Given the description of an element on the screen output the (x, y) to click on. 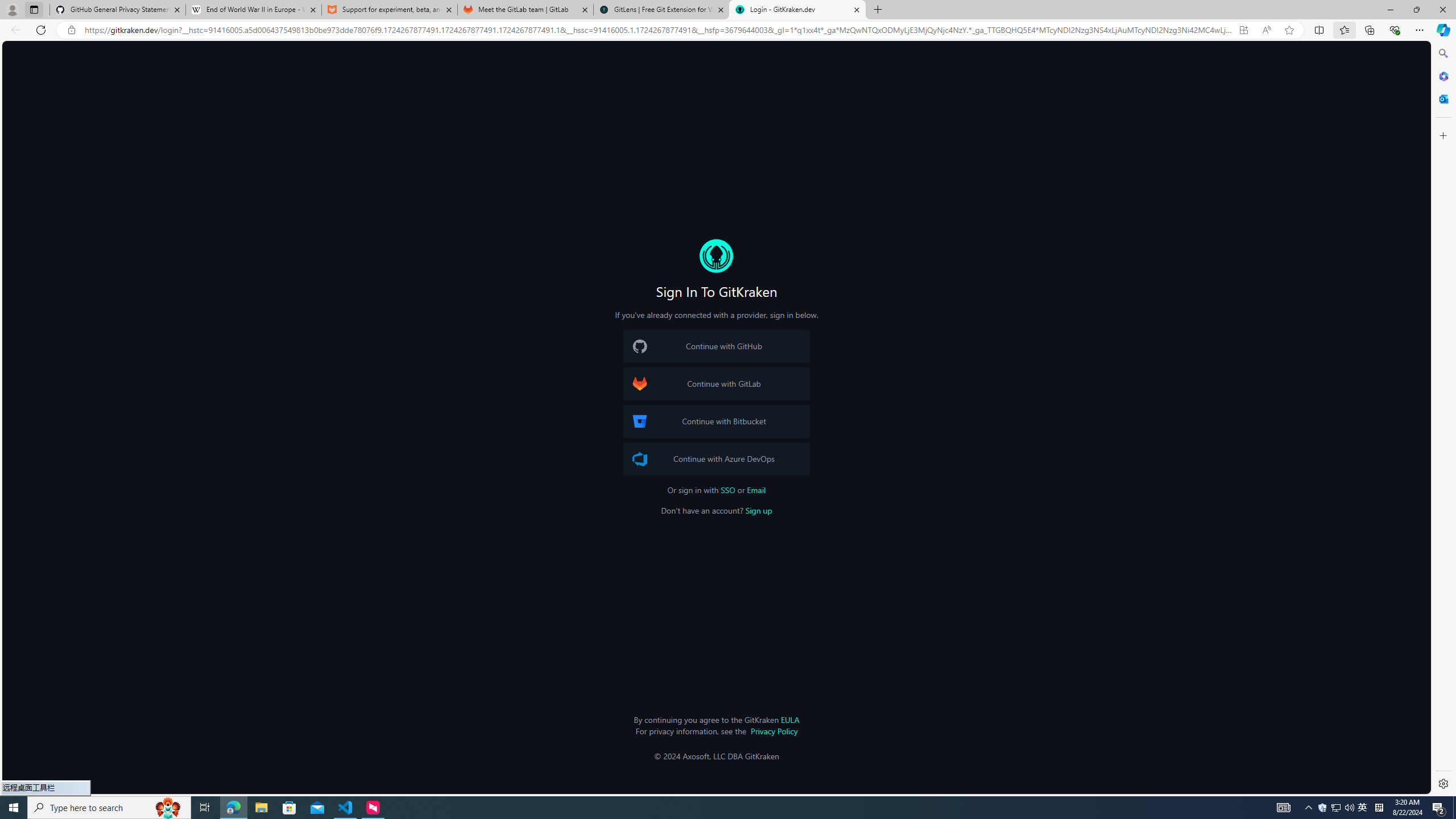
SSO (727, 489)
